Given the description of an element on the screen output the (x, y) to click on. 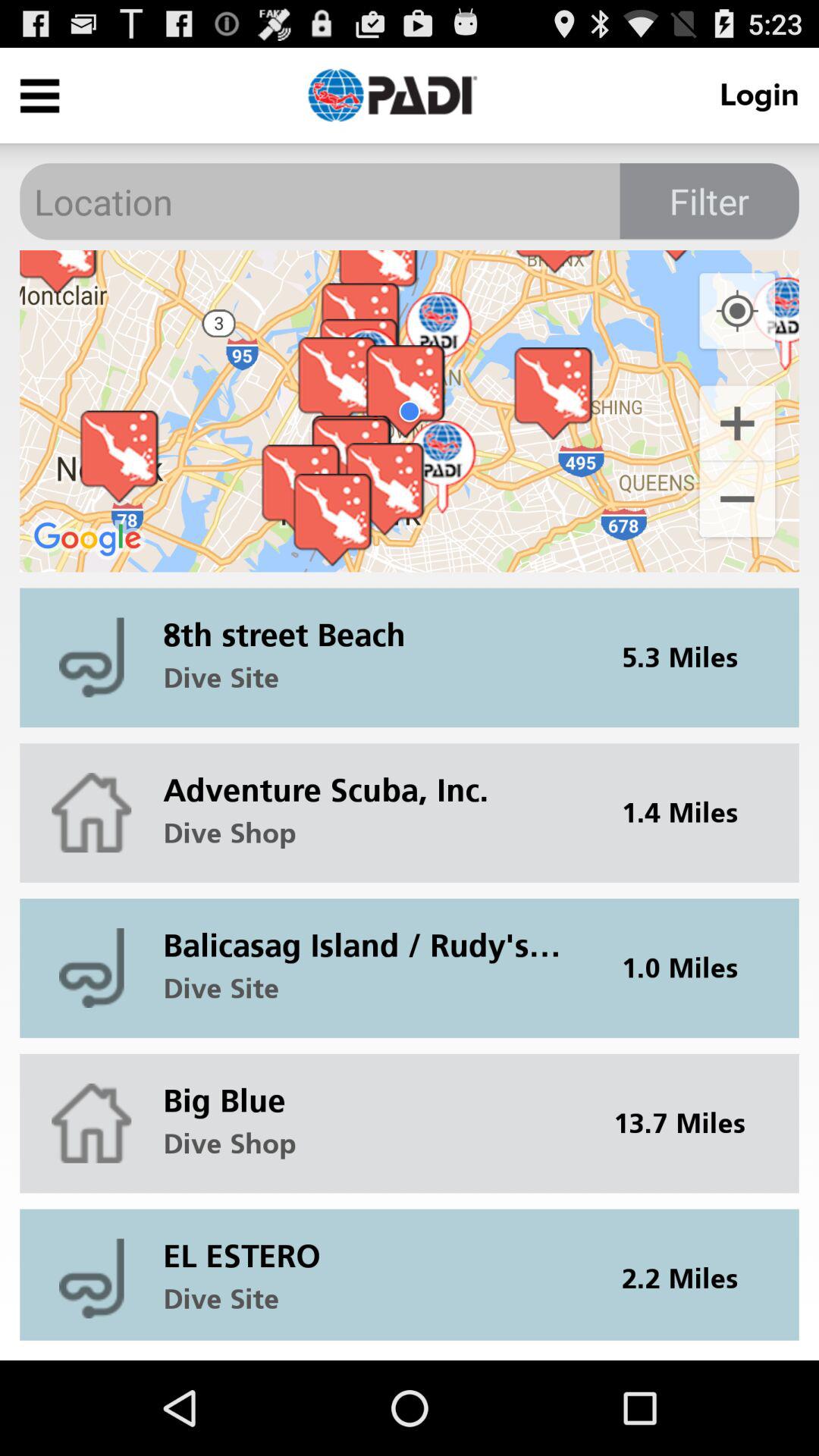
select item next to el estero (689, 1274)
